Given the description of an element on the screen output the (x, y) to click on. 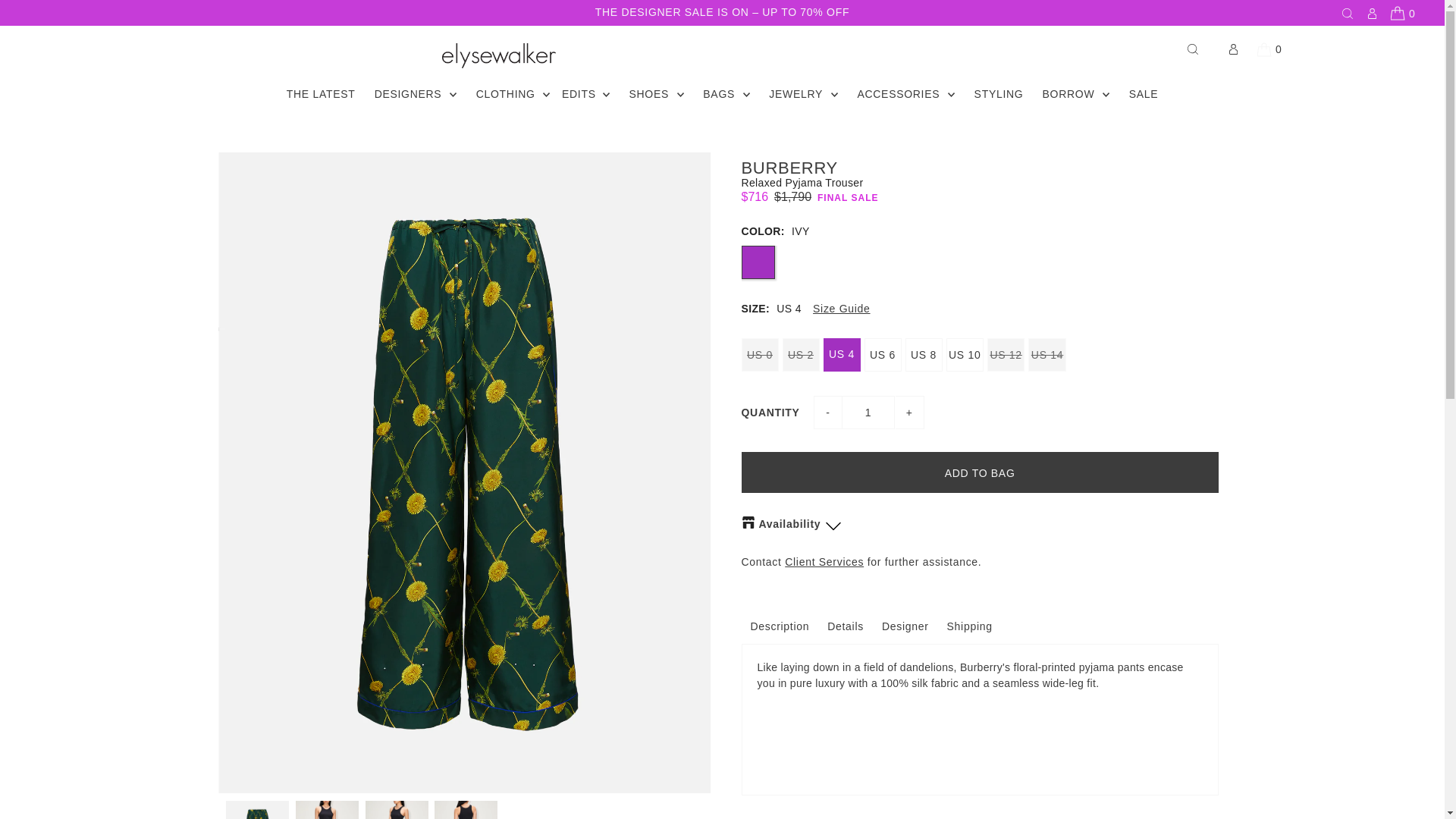
THE LATEST (320, 93)
1 (868, 412)
ADD TO BAG (979, 472)
DESIGNERS (404, 93)
